Given the description of an element on the screen output the (x, y) to click on. 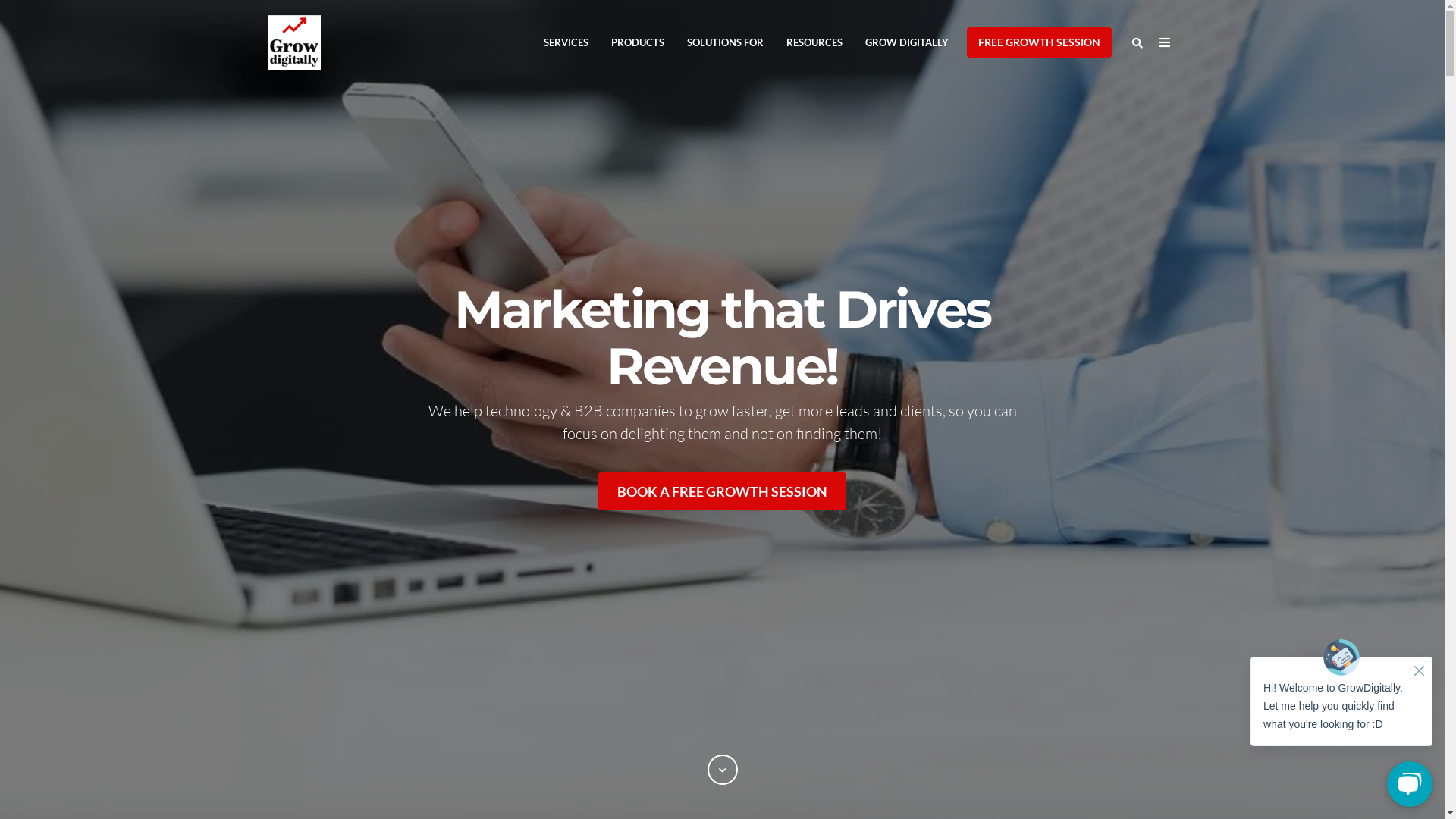
PRODUCTS Element type: text (637, 41)
BOOK A FREE GROWTH SESSION Element type: text (722, 491)
SERVICES Element type: text (565, 41)
FREE GROWTH SESSION Element type: text (1038, 42)
SOLUTIONS FOR Element type: text (725, 41)
GROW DIGITALLY Element type: text (906, 41)
RESOURCES Element type: text (814, 41)
